Given the description of an element on the screen output the (x, y) to click on. 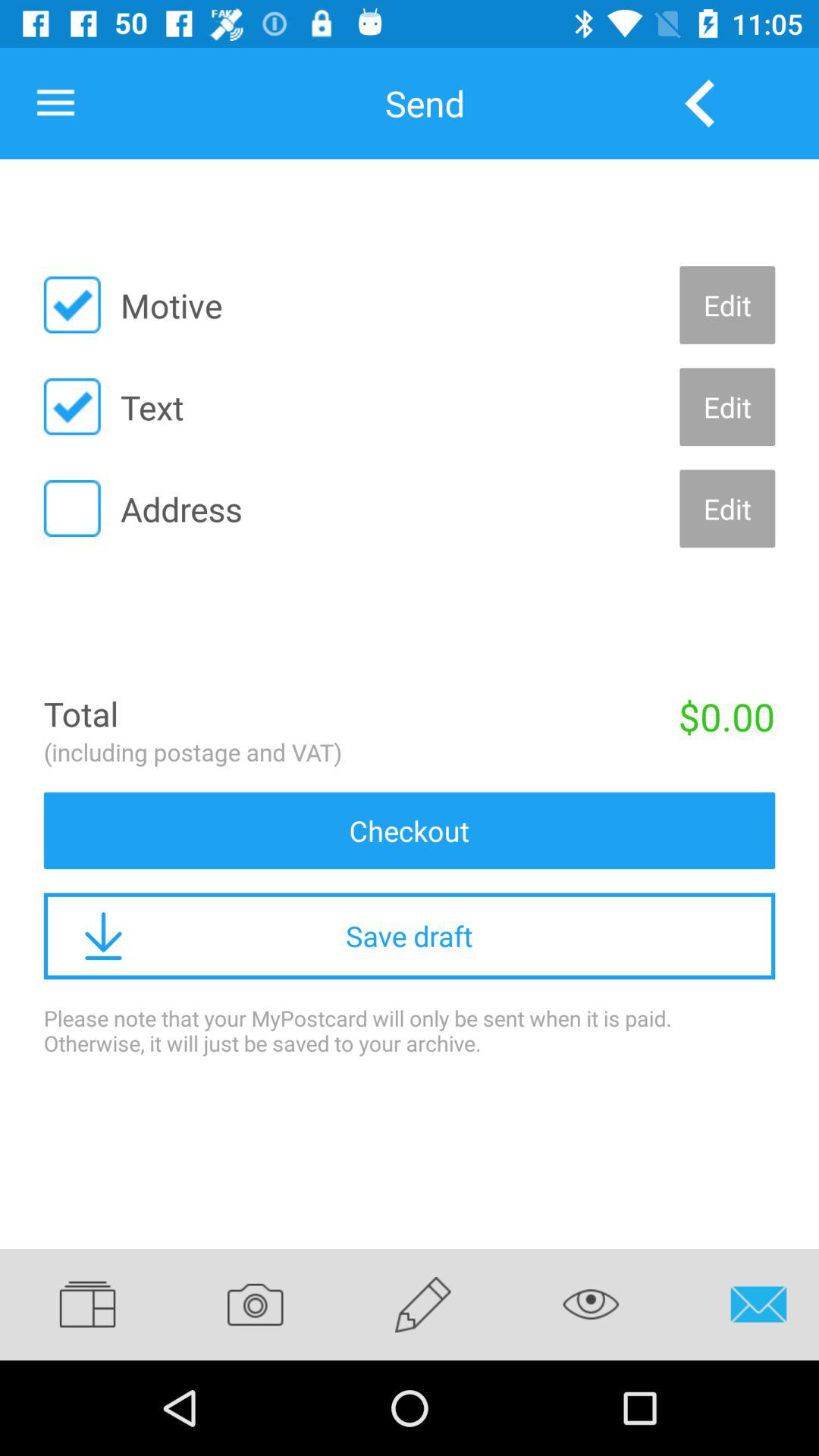
choose the icon above edit (699, 103)
